Given the description of an element on the screen output the (x, y) to click on. 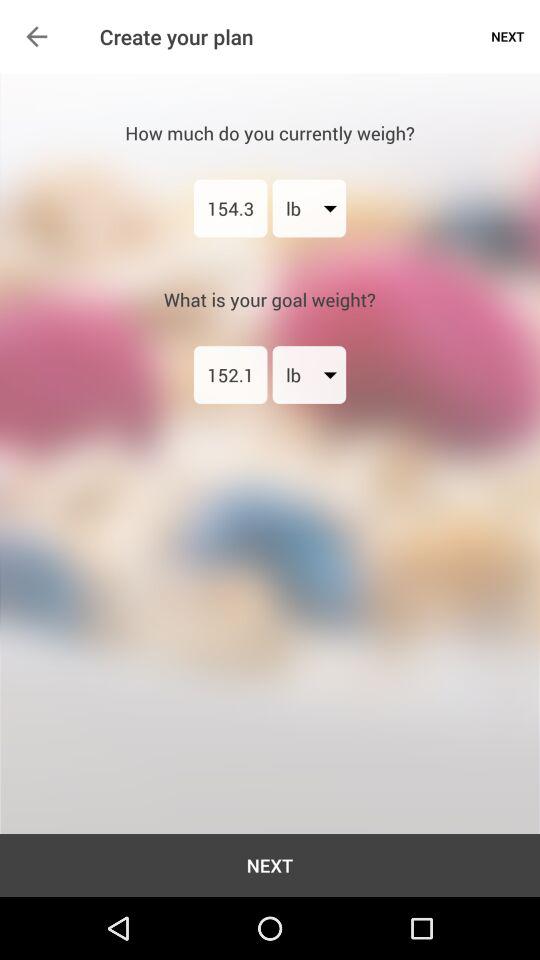
turn on the 152.1 icon (230, 374)
